Given the description of an element on the screen output the (x, y) to click on. 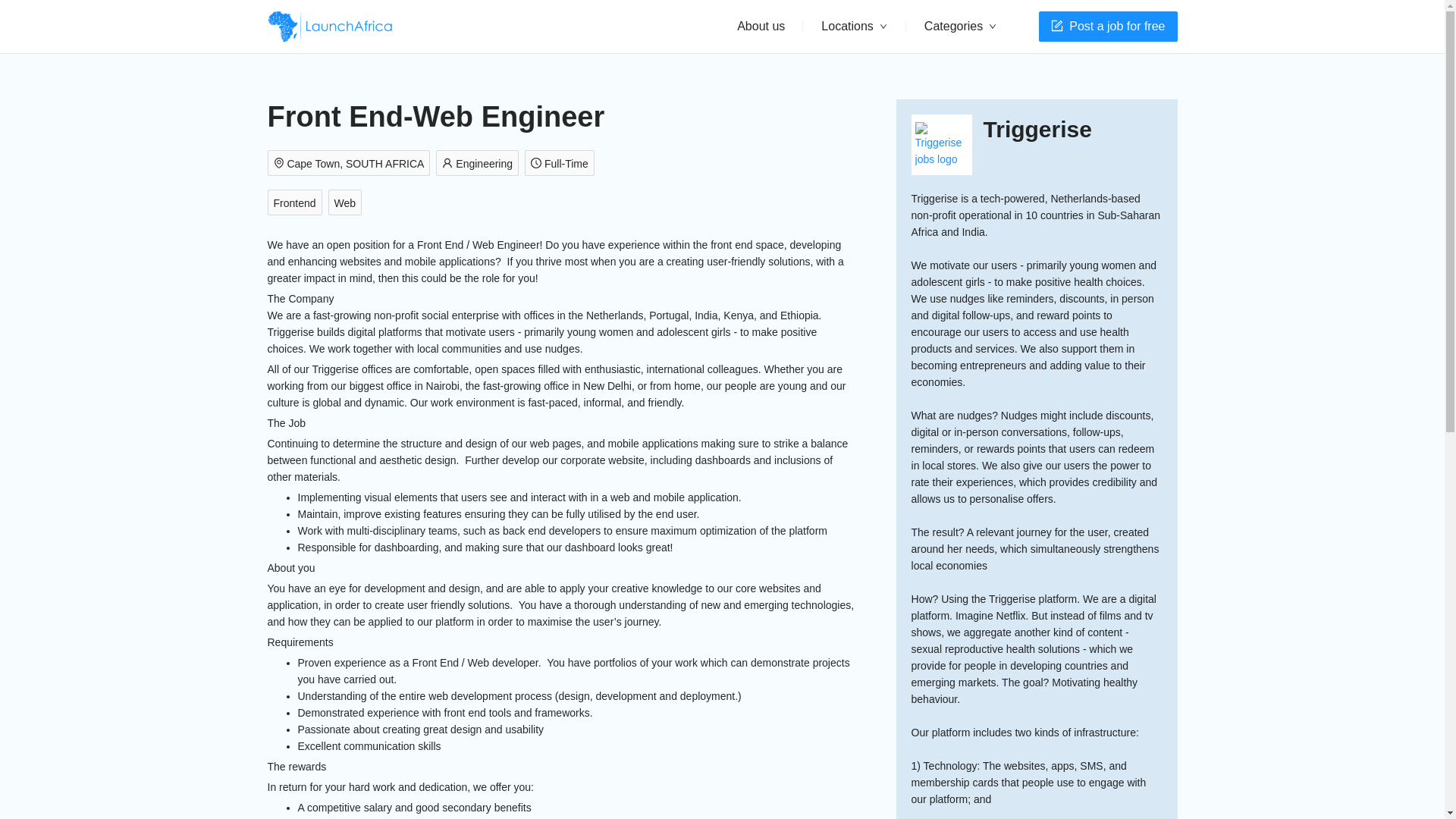
Engineering (479, 163)
Post a job for free (1107, 26)
Web (348, 203)
Categories (960, 26)
Frontend (296, 203)
Triggerise (1038, 129)
Cape Town, SOUTH AFRICA (350, 163)
About us (760, 25)
Locations (854, 26)
